Given the description of an element on the screen output the (x, y) to click on. 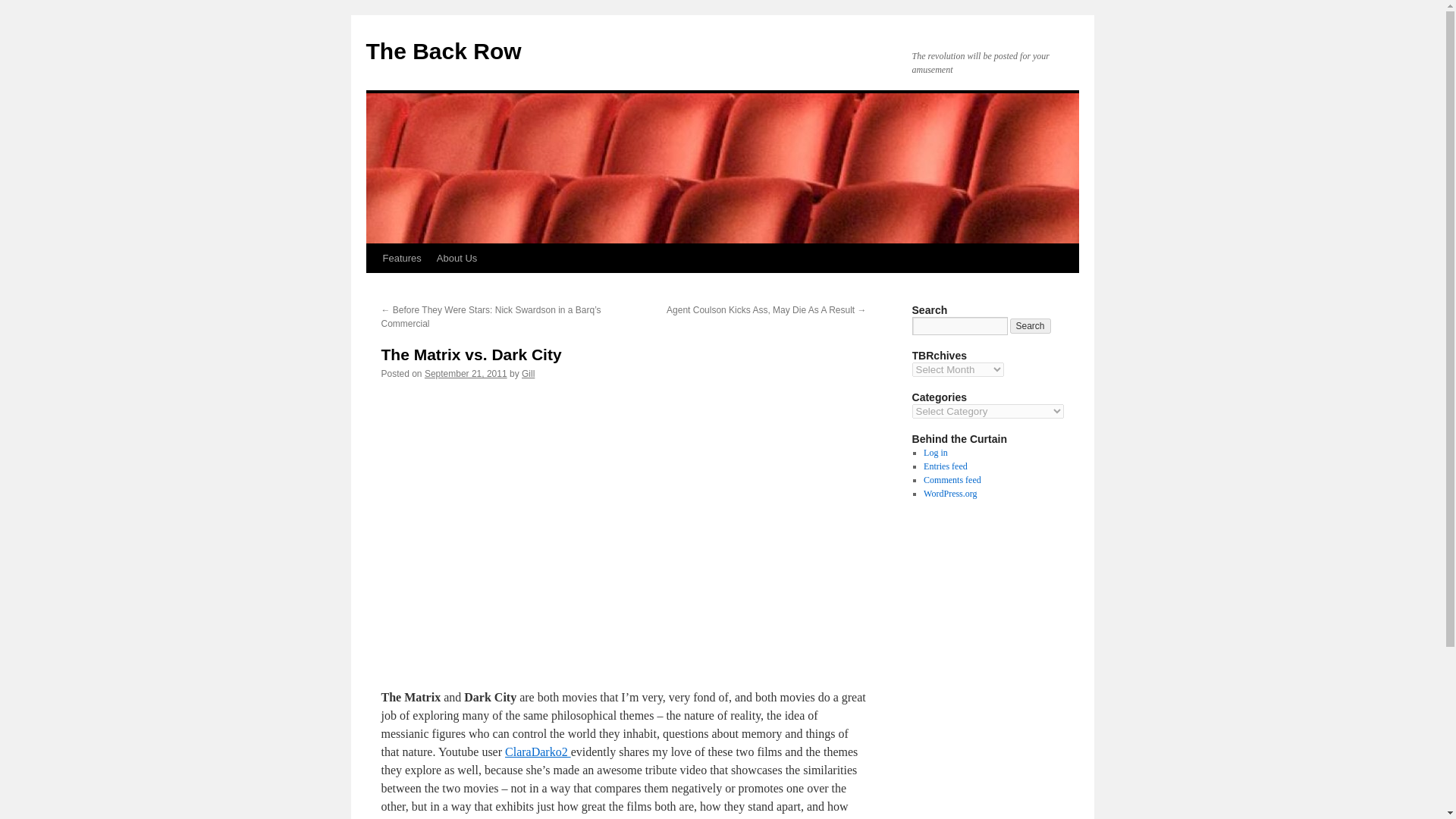
Search (1030, 325)
Comments feed (952, 480)
Log in (935, 452)
View all posts by Gill (527, 373)
September 21, 2011 (465, 373)
The Back Row (443, 50)
ClaraDarko2 (537, 751)
Entries feed (945, 466)
WordPress.org (949, 493)
11:07 pm (465, 373)
Search (1030, 325)
Features (401, 258)
About Us (456, 258)
The Matrix vs. Dark City. (623, 528)
Gill (527, 373)
